Given the description of an element on the screen output the (x, y) to click on. 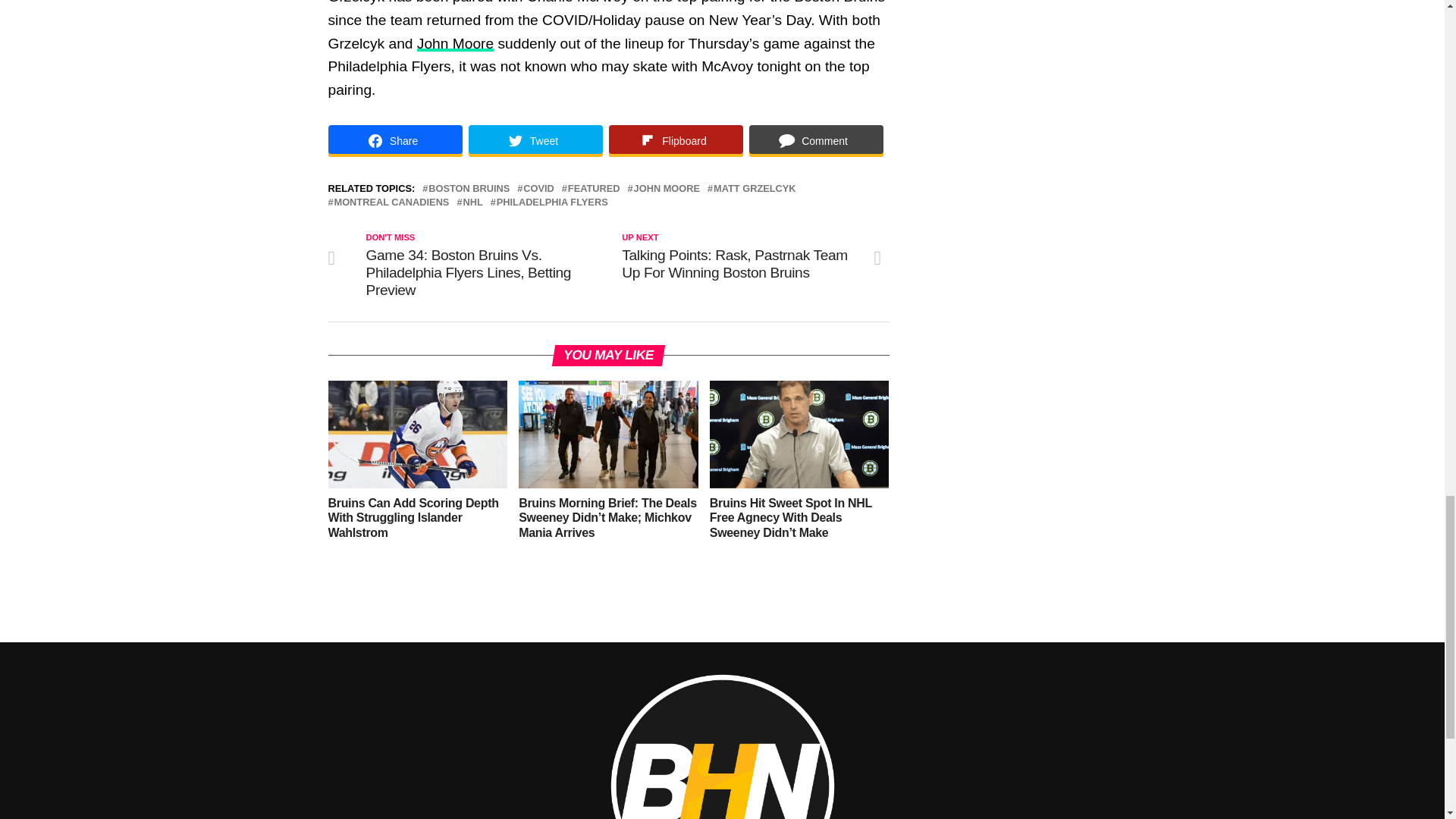
Share on Tweet (535, 141)
Share on Flipboard (675, 141)
Share on Comment (816, 141)
Share on Share (394, 141)
